Given the description of an element on the screen output the (x, y) to click on. 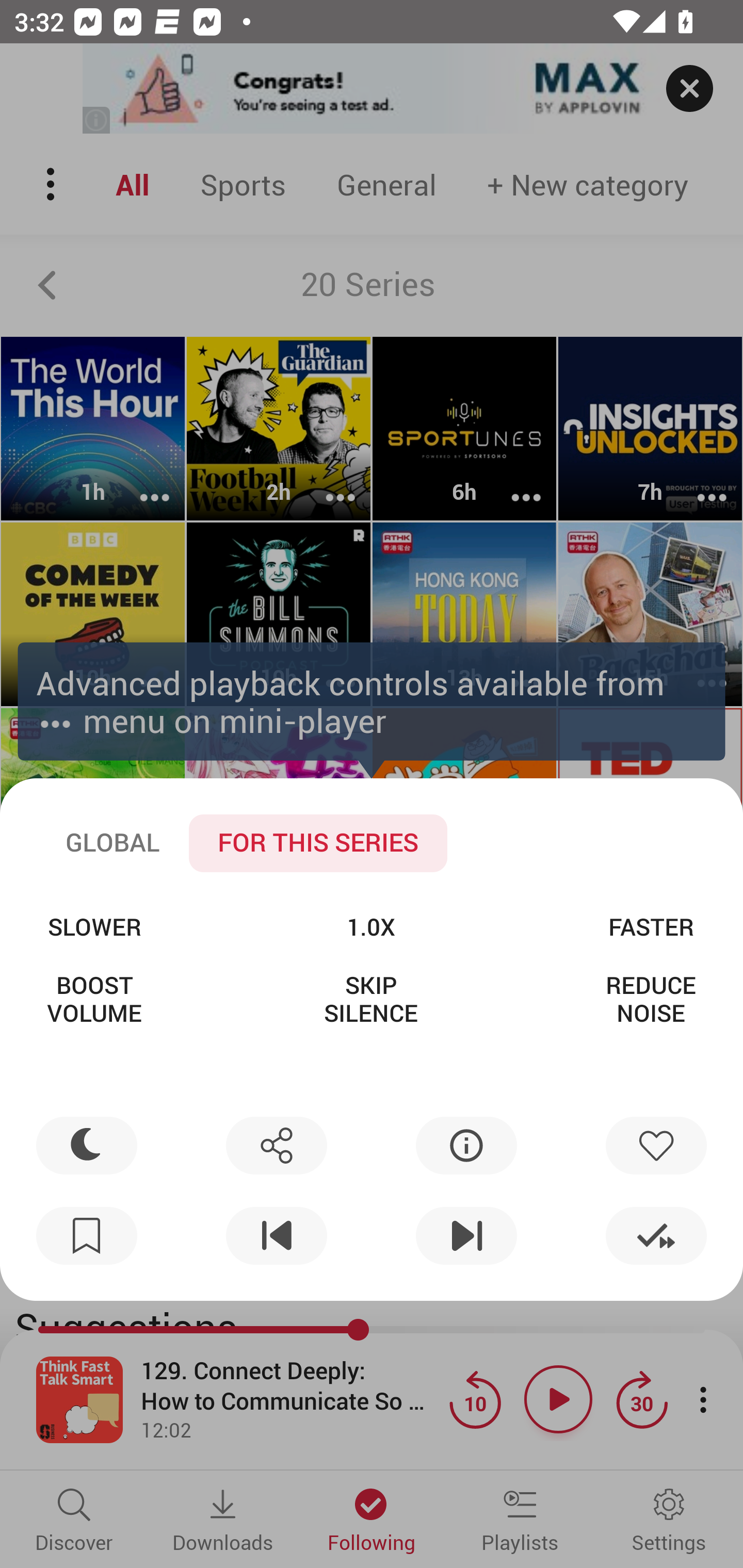
GLOBAL (112, 842)
FOR THIS SERIES (317, 842)
SLOWER (94, 926)
1.0X (370, 926)
FASTER (650, 926)
BOOST
VOLUME (94, 998)
SKIP
SILENCE (370, 998)
REDUCE
NOISE (650, 998)
Sleep timer (86, 1145)
Share (275, 1145)
Info (466, 1145)
Like (655, 1145)
New bookmark … (86, 1236)
Previous (275, 1236)
Next (466, 1236)
Mark played and next (655, 1236)
